Given the description of an element on the screen output the (x, y) to click on. 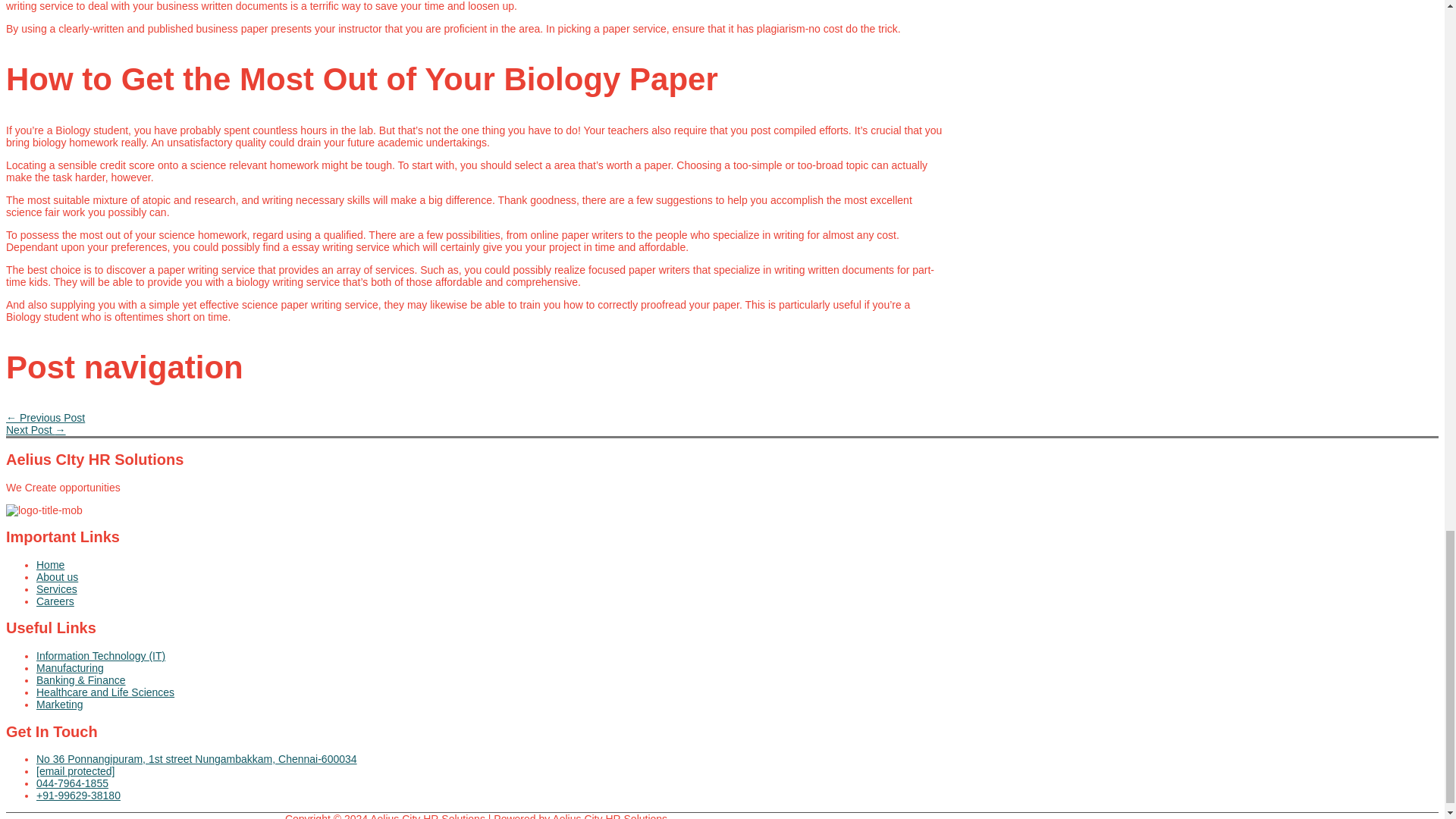
Manufacturing (491, 667)
About us (491, 576)
Home (491, 564)
Careers (491, 601)
Healthcare and Life Sciences (491, 692)
No 36 Ponnangipuram, 1st street Nungambakkam, Chennai-600034 (491, 758)
Marketing (491, 704)
044-7964-1855 (491, 783)
Services (491, 589)
